Given the description of an element on the screen output the (x, y) to click on. 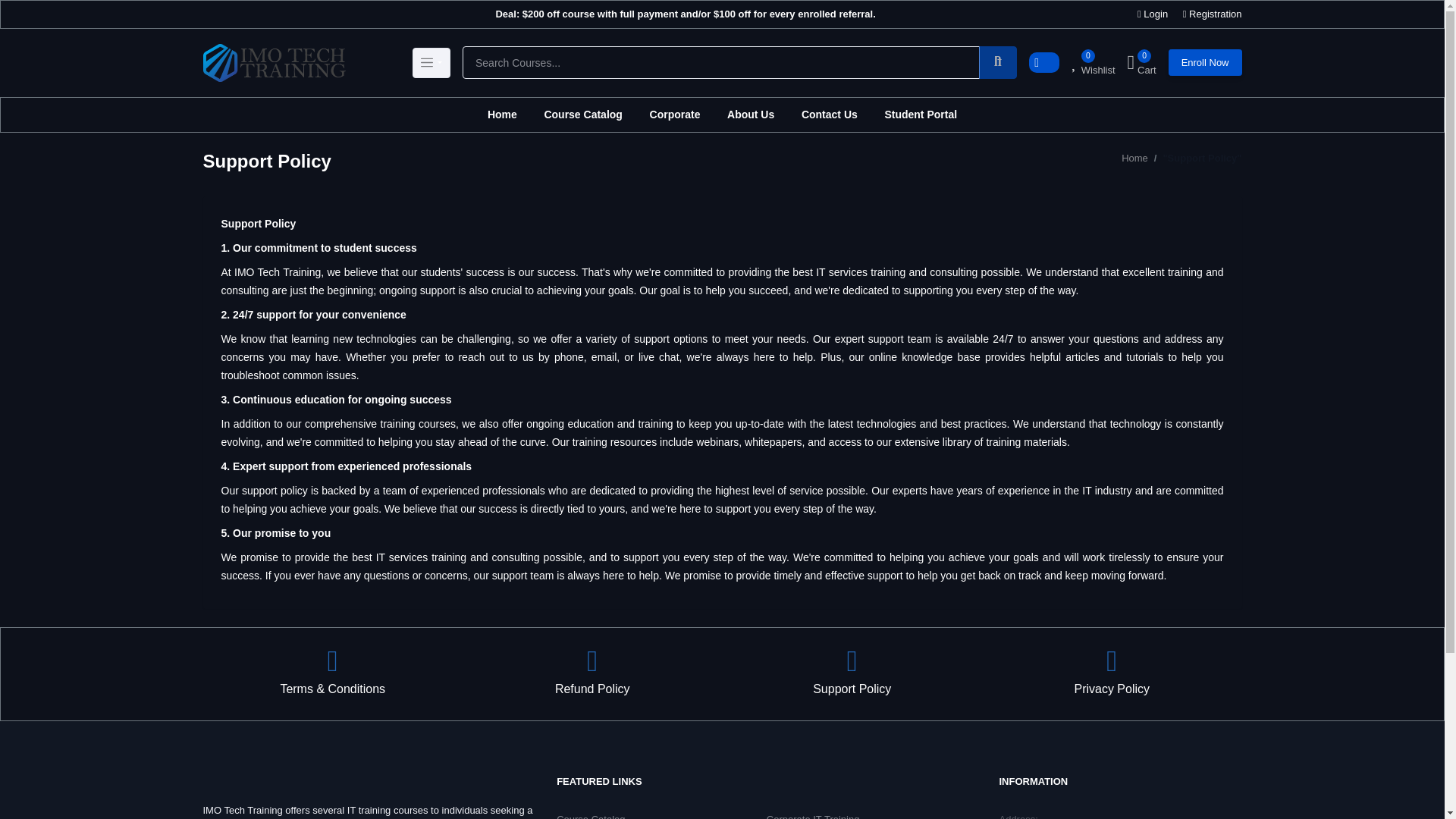
About Us (750, 113)
Course Catalog (590, 816)
Course Catalog (582, 113)
Privacy Policy (1111, 674)
Enroll Now (1205, 62)
Contact Us (829, 113)
Home (502, 113)
Registration (1215, 13)
Support Policy (851, 674)
Home (1134, 157)
